Given the description of an element on the screen output the (x, y) to click on. 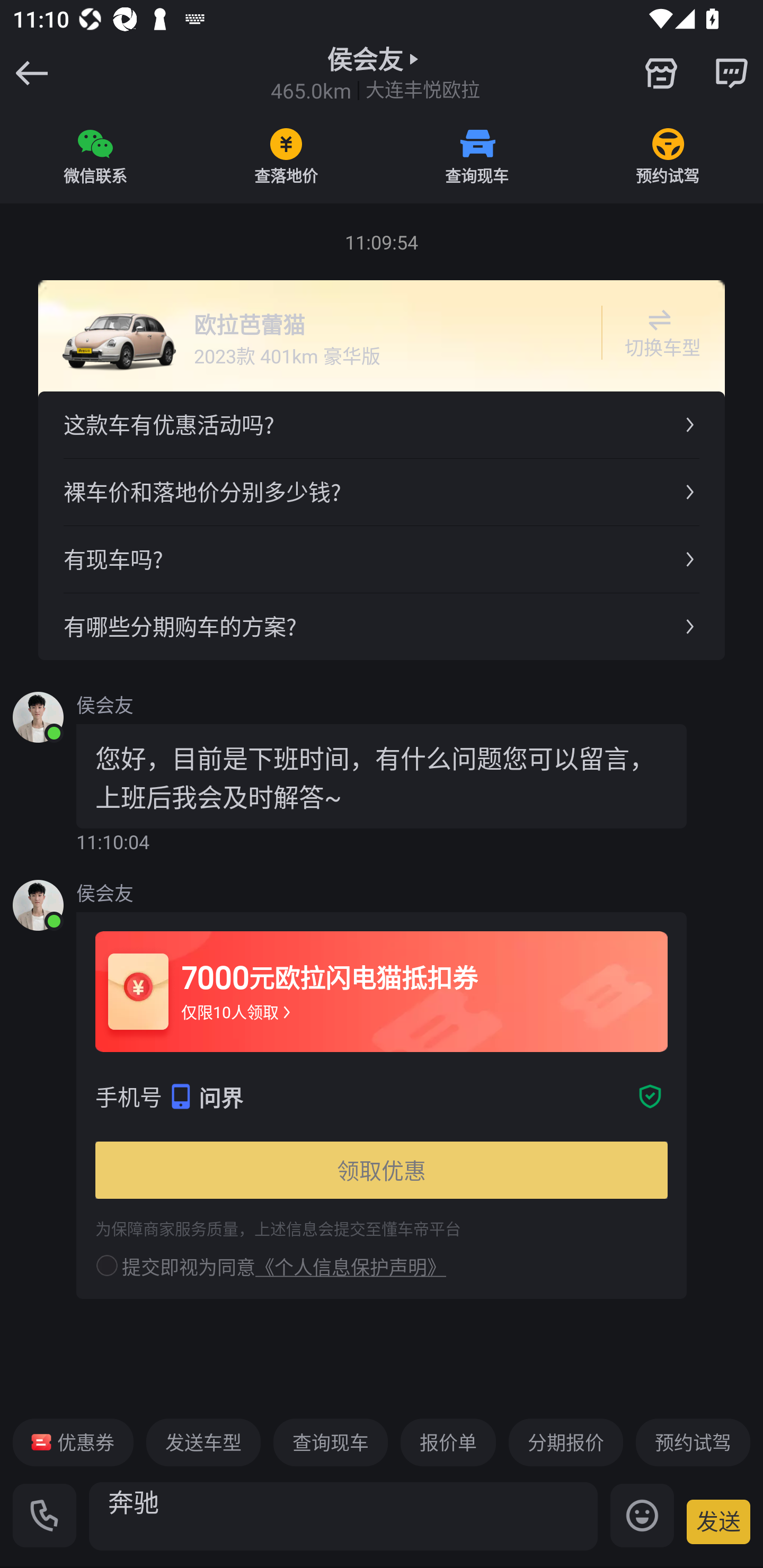
侯会友 465.0km 大连丰悦欧拉 (374, 73)
 (730, 72)
 (661, 73)
微信联系 (95, 155)
查落地价 (285, 155)
查询现车 (476, 155)
预约试驾 (667, 155)
切换车型 (659, 332)
这款车有优惠活动吗? (381, 424)
裸车价和落地价分别多少钱? (381, 492)
有现车吗? (381, 558)
有哪些分期购车的方案? (381, 626)
您好，目前是下班时间，有什么问题您可以留言，上班后我会及时解答~ (381, 775)
仅限10人领取 (237, 1011)
问界 (413, 1096)
领取优惠 (381, 1170)
优惠券 (72, 1442)
发送车型 (203, 1442)
查询现车 (330, 1442)
报价单 (447, 1442)
分期报价 (565, 1442)
预约试驾 (692, 1442)
奔驰
 (343, 1515)
发送 (718, 1521)
